Given the description of an element on the screen output the (x, y) to click on. 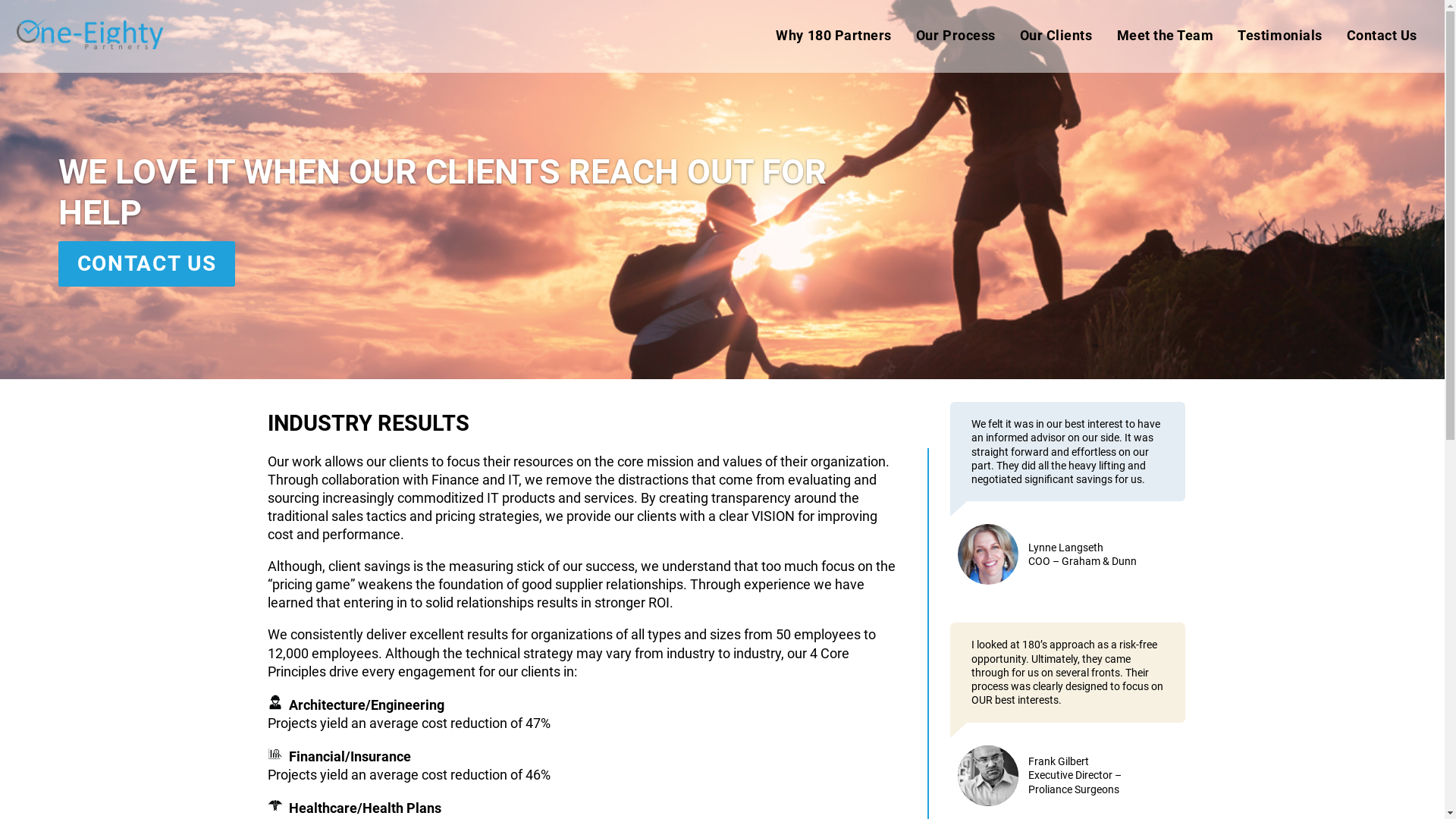
CONTACT US Element type: text (146, 263)
Why 180 Partners Element type: text (833, 35)
Testimonials Element type: text (1279, 35)
Meet the Team Element type: text (1164, 35)
Our Clients Element type: text (1055, 35)
Contact Us Element type: text (1381, 35)
Our Process Element type: text (955, 35)
